Given the description of an element on the screen output the (x, y) to click on. 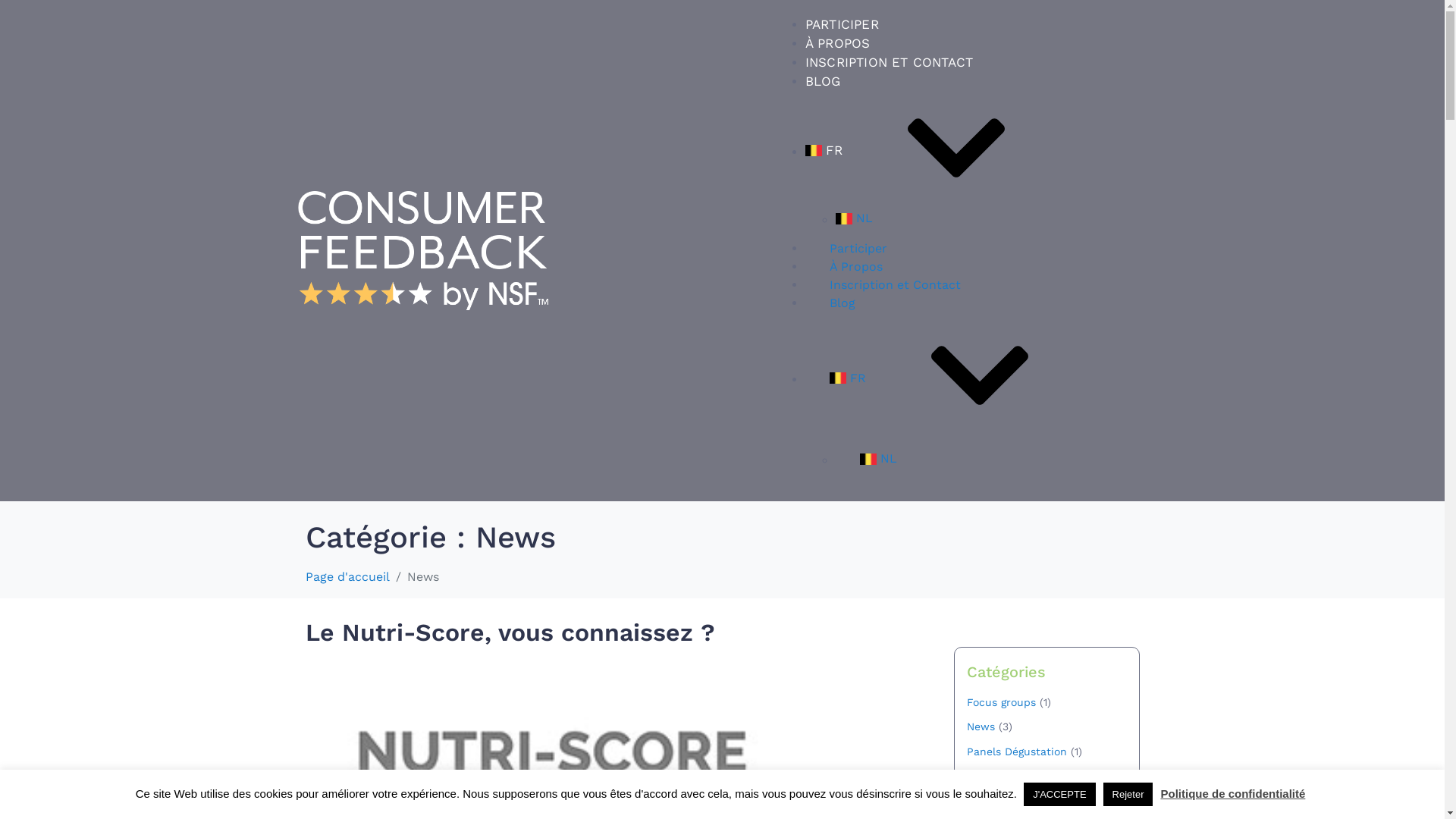
NL Element type: text (976, 458)
J'ACCEPTE Element type: text (1059, 794)
Rejeter Element type: text (1128, 794)
NL Element type: text (976, 218)
Le Nutri-Score, vous connaissez ? Element type: text (509, 632)
FR Element type: text (961, 377)
Page d'accueil Element type: text (346, 576)
Focus groups Element type: text (1000, 702)
News Element type: text (980, 726)
Blog Element type: text (842, 302)
BLOG Element type: text (822, 80)
FR Element type: text (961, 150)
Inscription et Contact Element type: text (895, 284)
INSCRIPTION ET CONTACT Element type: text (888, 61)
PARTICIPER Element type: text (841, 23)
Participer Element type: text (858, 248)
